Given the description of an element on the screen output the (x, y) to click on. 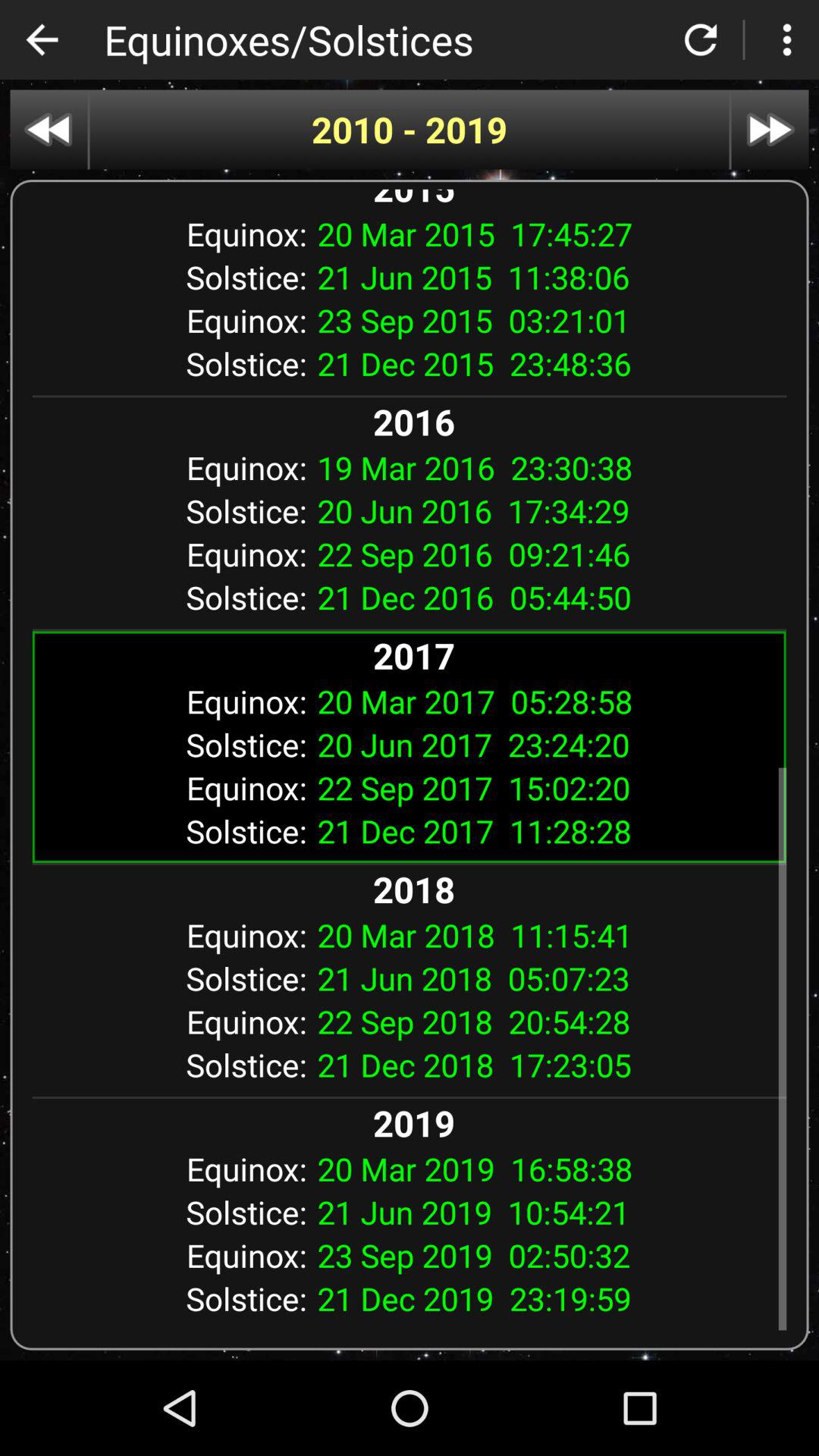
to refresh (700, 39)
